Given the description of an element on the screen output the (x, y) to click on. 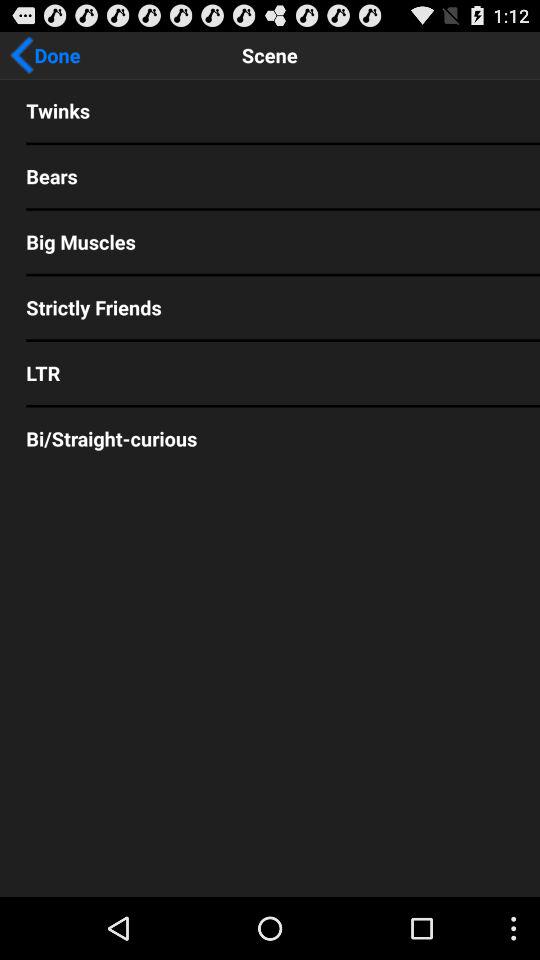
swipe until the bears app (270, 175)
